Given the description of an element on the screen output the (x, y) to click on. 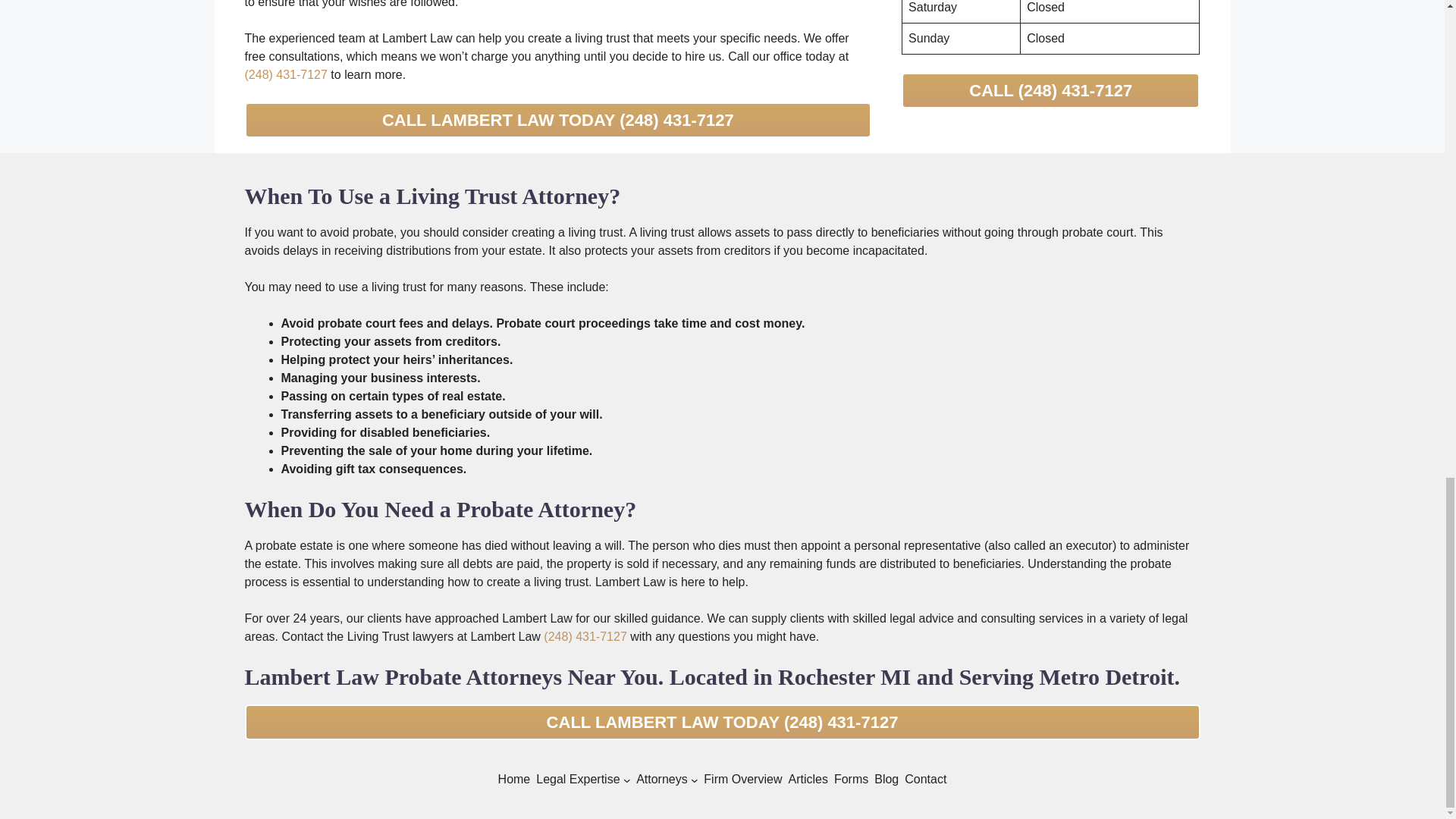
Forms (850, 779)
Home (514, 779)
Contact (925, 779)
Blog (886, 779)
Attorneys (661, 779)
Firm Overview (742, 779)
Articles (807, 779)
Legal Expertise (577, 779)
